Given the description of an element on the screen output the (x, y) to click on. 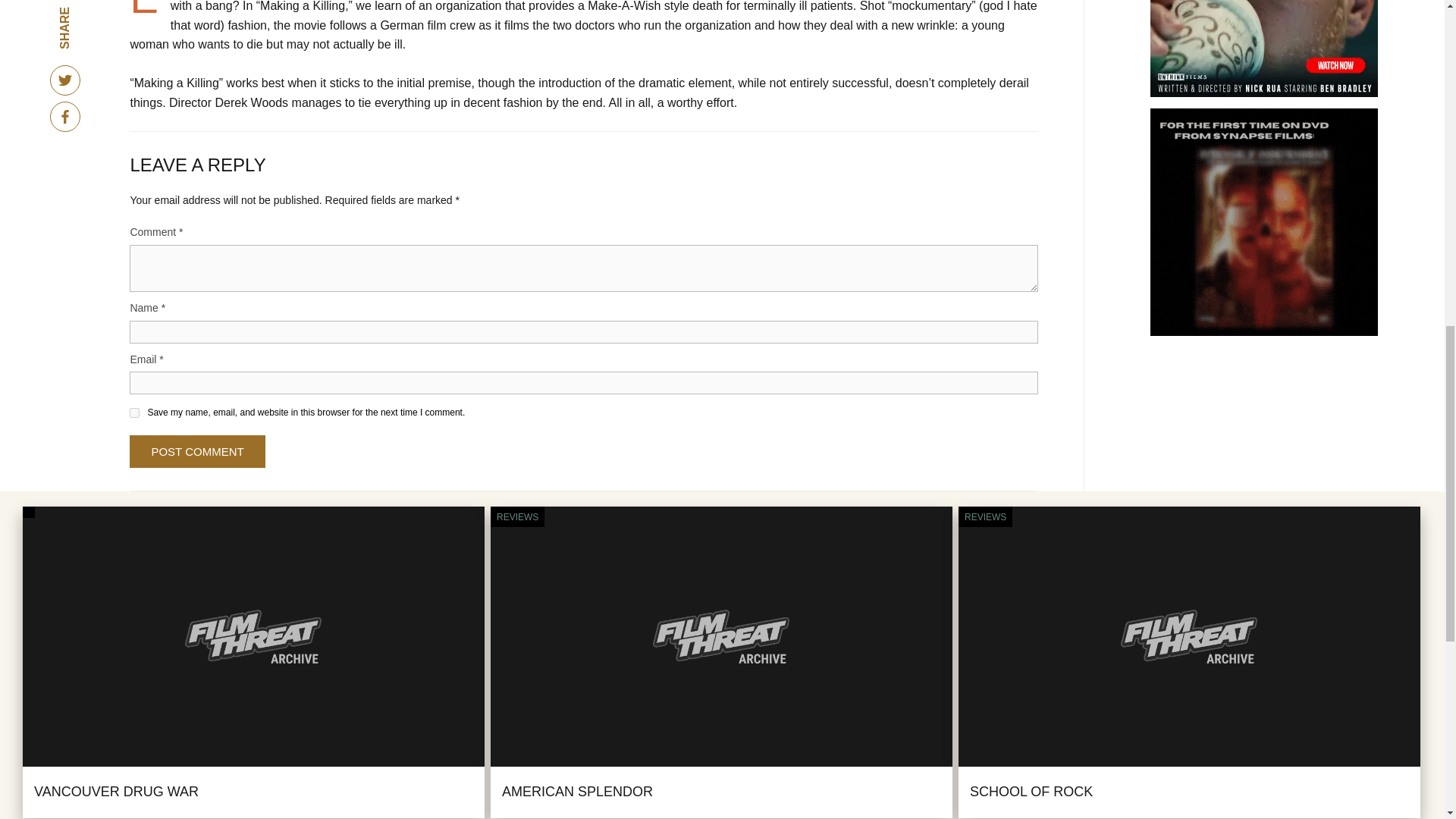
Post Comment (196, 450)
SCHOOL OF ROCK (1031, 791)
VANCOUVER DRUG WAR (115, 791)
Reviews (517, 516)
REVIEWS (517, 516)
Post Comment (196, 450)
AMERICAN SPLENDOR (577, 791)
Reviews (984, 516)
yes (134, 412)
REVIEWS (984, 516)
